Given the description of an element on the screen output the (x, y) to click on. 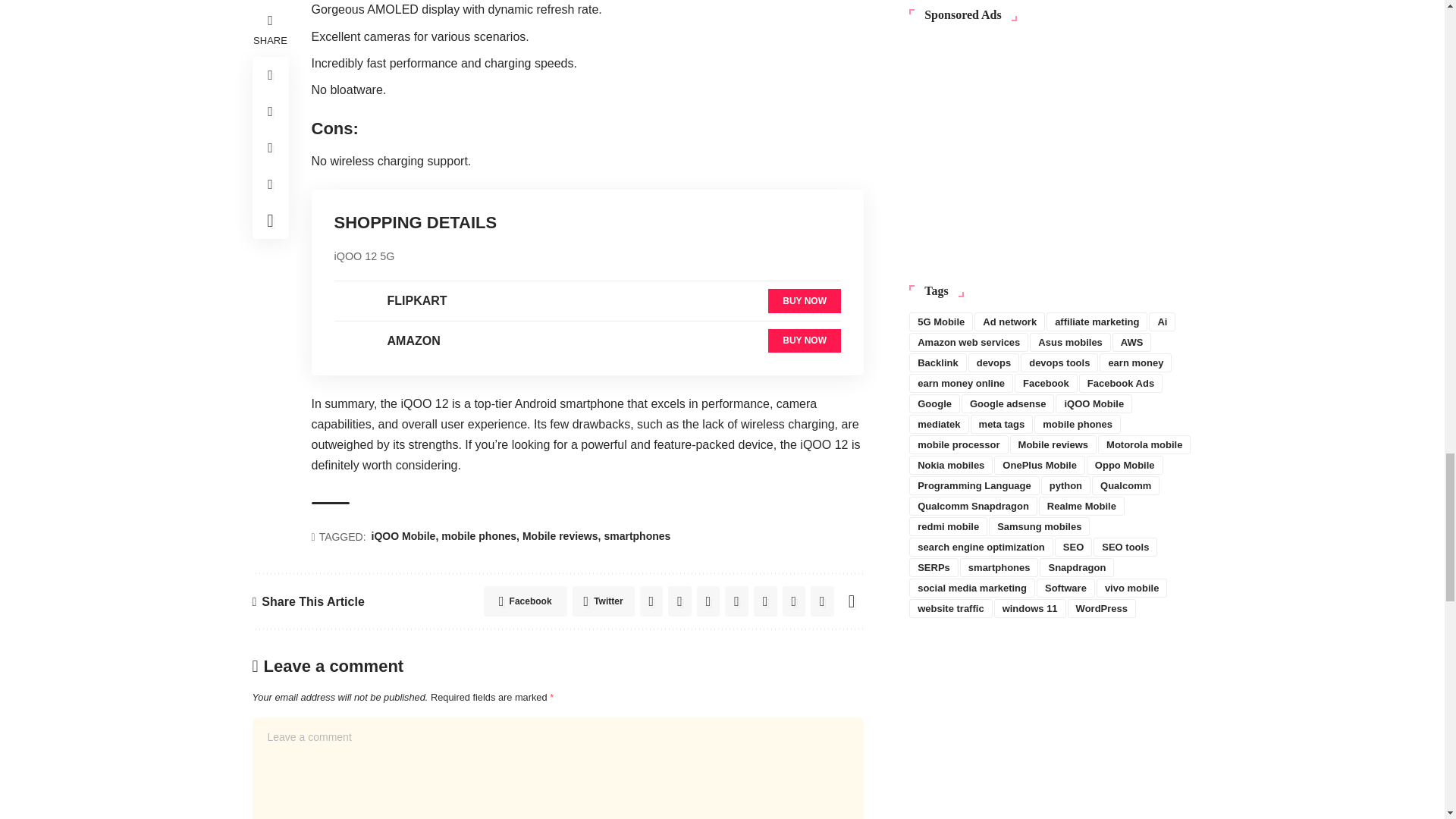
iQOO 12 Review: Features and Performance - Walnox (352, 340)
iQOO 12 Review: Features and Performance - Walnox (352, 301)
